Given the description of an element on the screen output the (x, y) to click on. 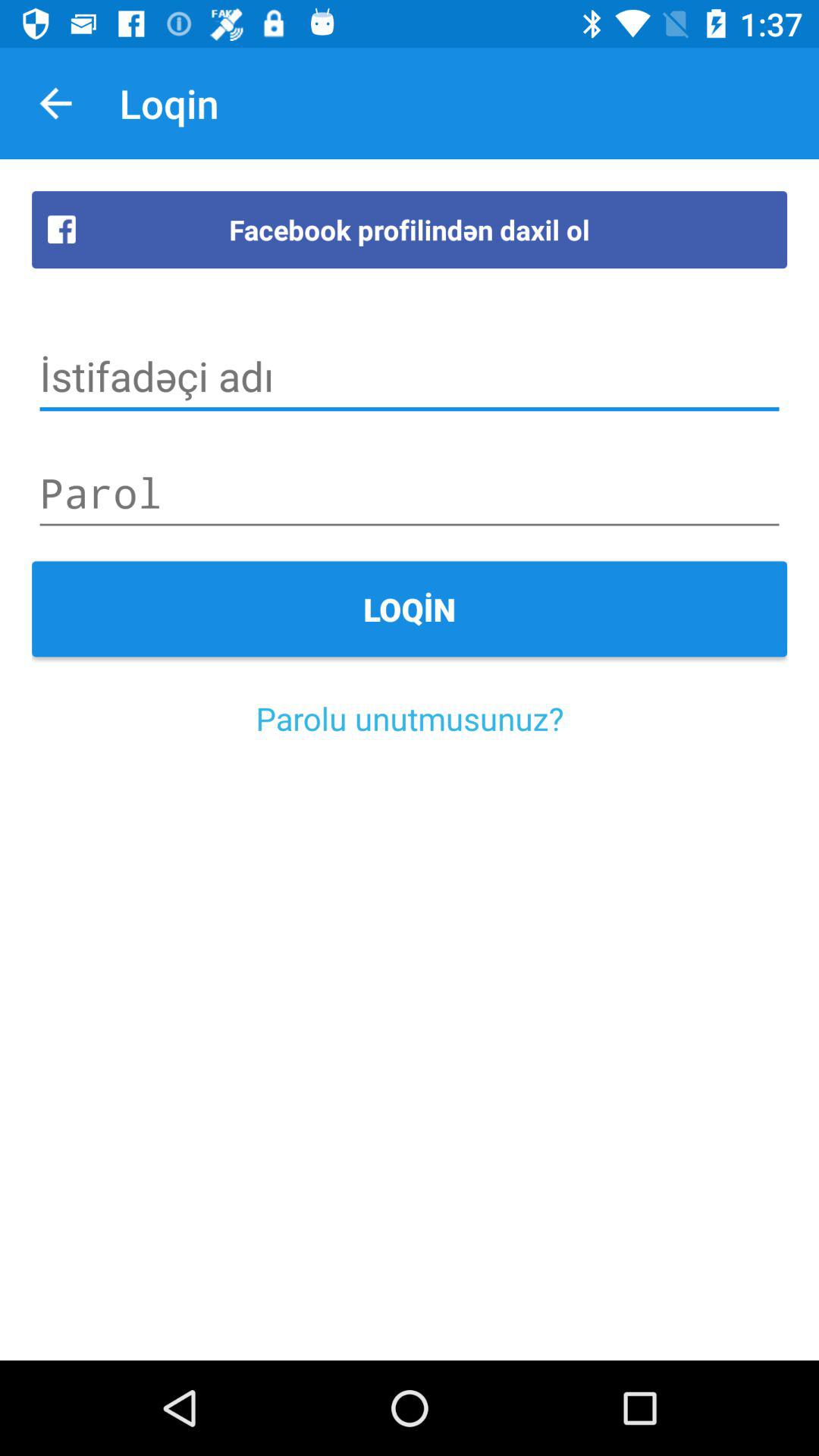
scroll until the parolu unutmusunuz? (409, 717)
